Given the description of an element on the screen output the (x, y) to click on. 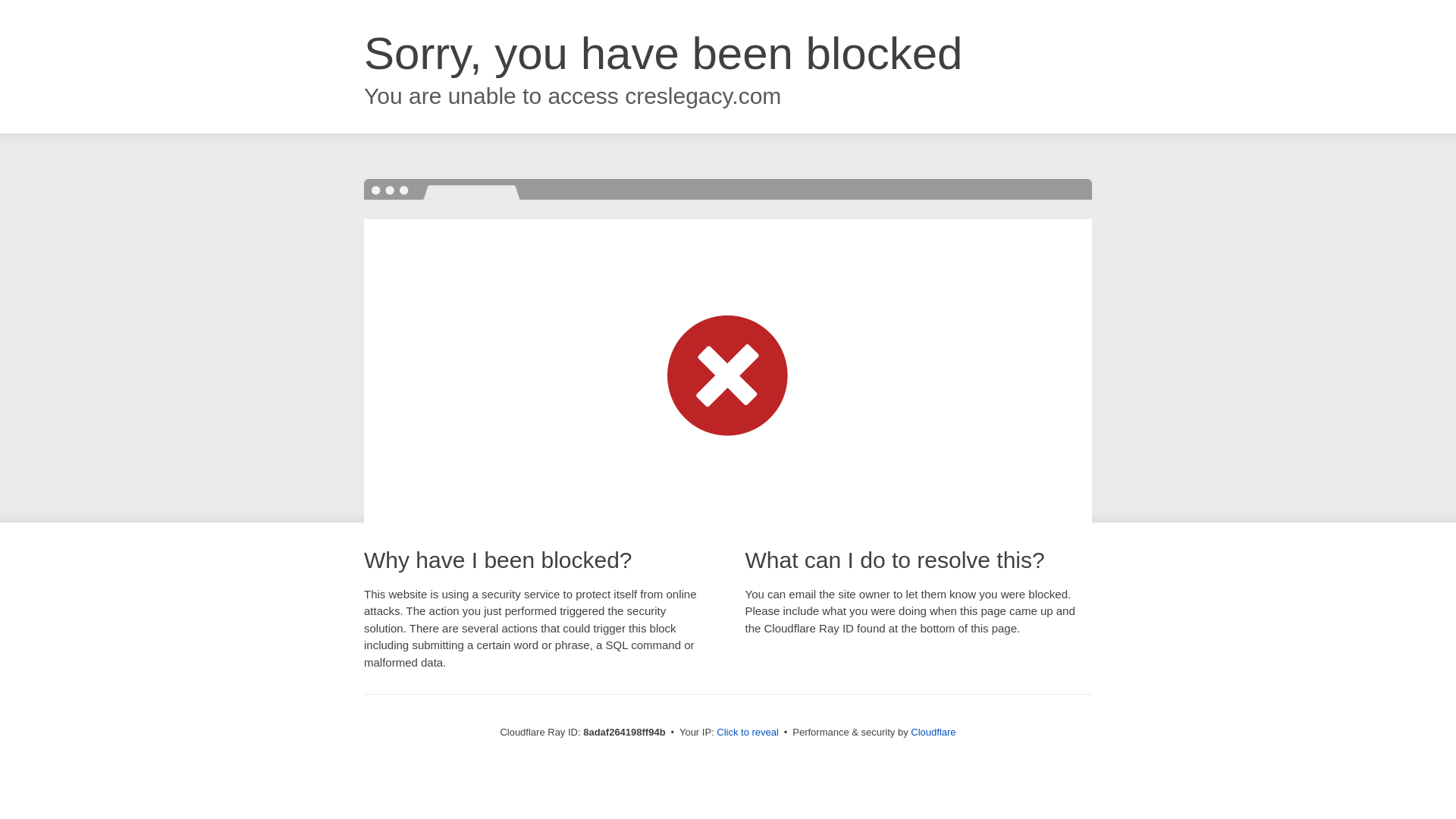
Click to reveal (747, 732)
Cloudflare (933, 731)
